Given the description of an element on the screen output the (x, y) to click on. 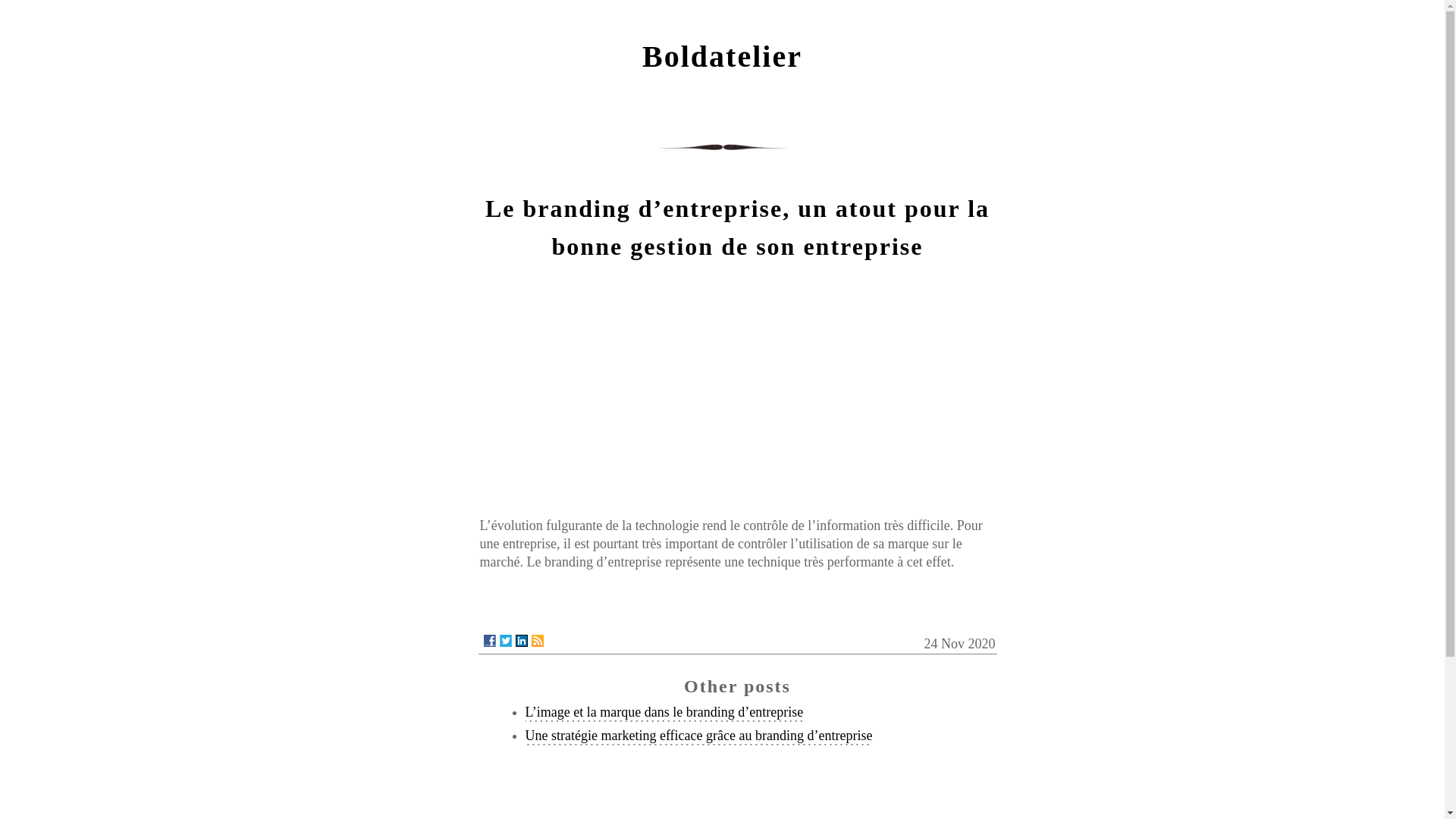
Twitter Element type: hover (504, 640)
Facebook Element type: hover (489, 640)
LinkedIn Element type: hover (521, 640)
RSS Element type: hover (536, 640)
